Given the description of an element on the screen output the (x, y) to click on. 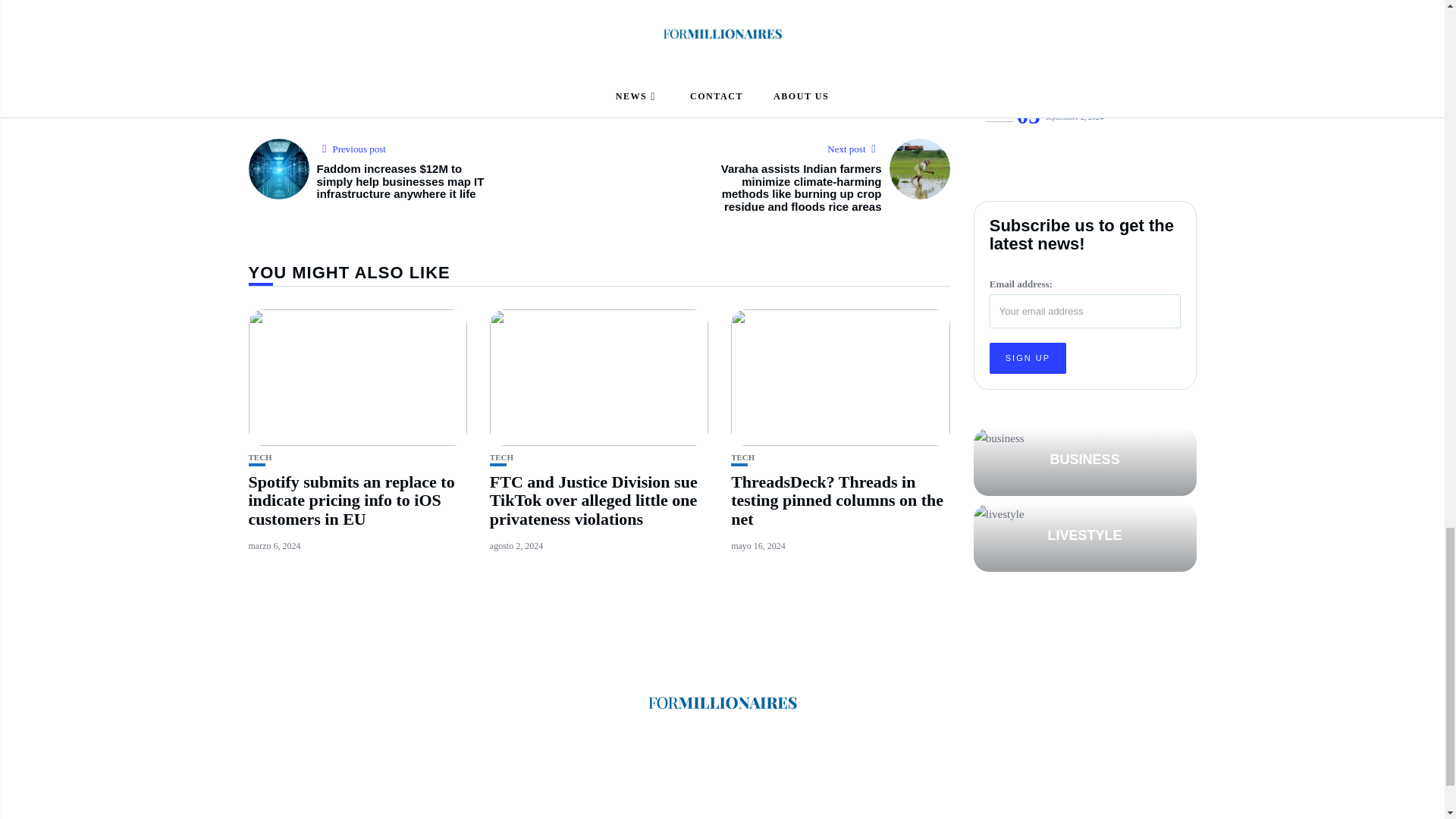
TECH (260, 457)
ThreadsDeck? Threads in testing pinned columns on the net (836, 499)
TECH (742, 457)
Entradas de Emily Clark (525, 7)
TECH (501, 457)
Emily Clark (525, 7)
